Given the description of an element on the screen output the (x, y) to click on. 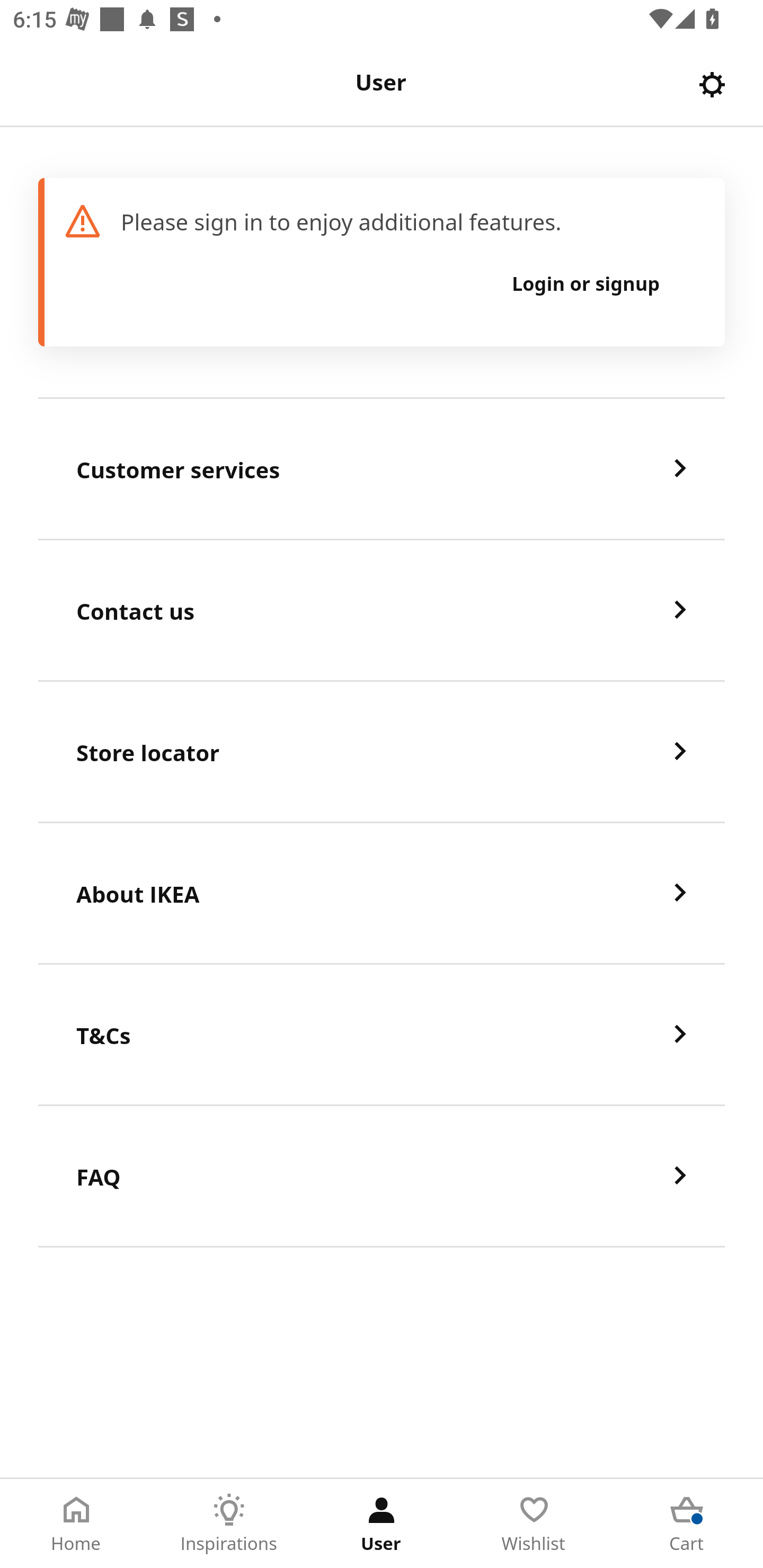
Login or signup (586, 282)
Customer services (381, 469)
Contact us (381, 611)
Store locator (381, 752)
About IKEA (381, 893)
T&Cs (381, 1034)
FAQ (381, 1176)
Home
Tab 1 of 5 (76, 1522)
Inspirations
Tab 2 of 5 (228, 1522)
User
Tab 3 of 5 (381, 1522)
Wishlist
Tab 4 of 5 (533, 1522)
Cart
Tab 5 of 5 (686, 1522)
